Given the description of an element on the screen output the (x, y) to click on. 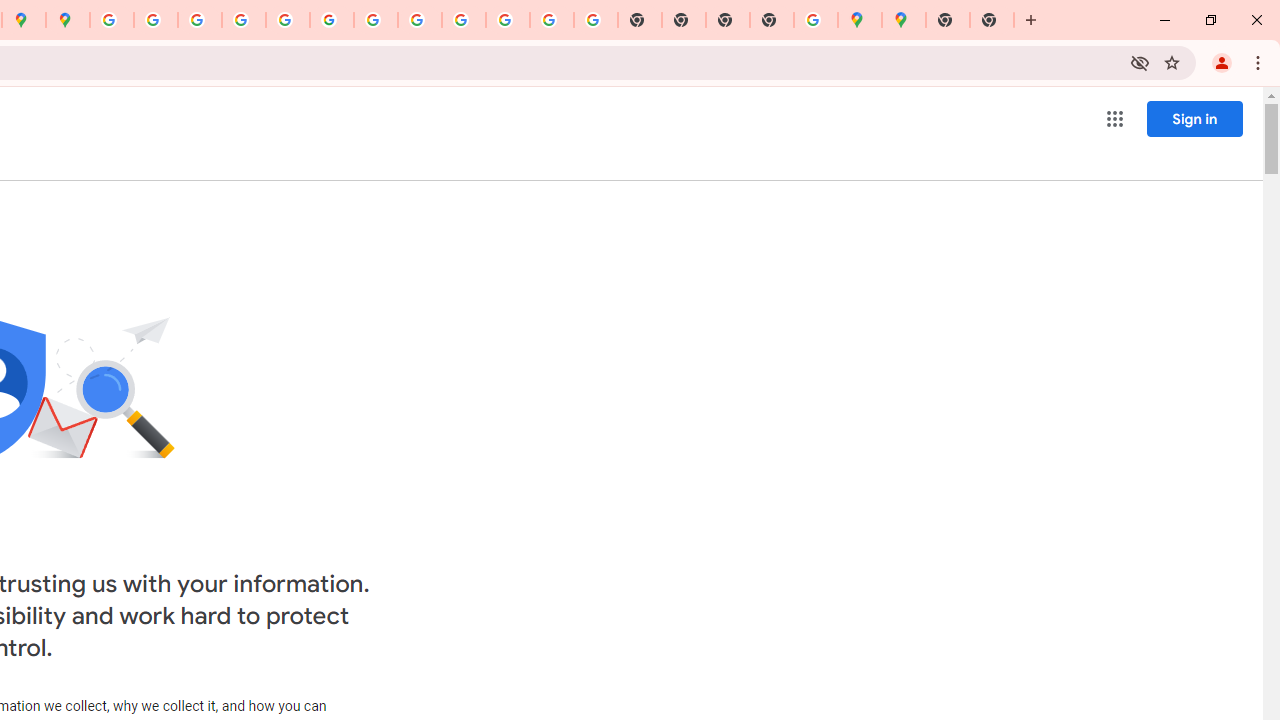
Google Maps (903, 20)
New Tab (991, 20)
Privacy Help Center - Policies Help (199, 20)
YouTube (376, 20)
Google Maps (859, 20)
Privacy Help Center - Policies Help (243, 20)
